Given the description of an element on the screen output the (x, y) to click on. 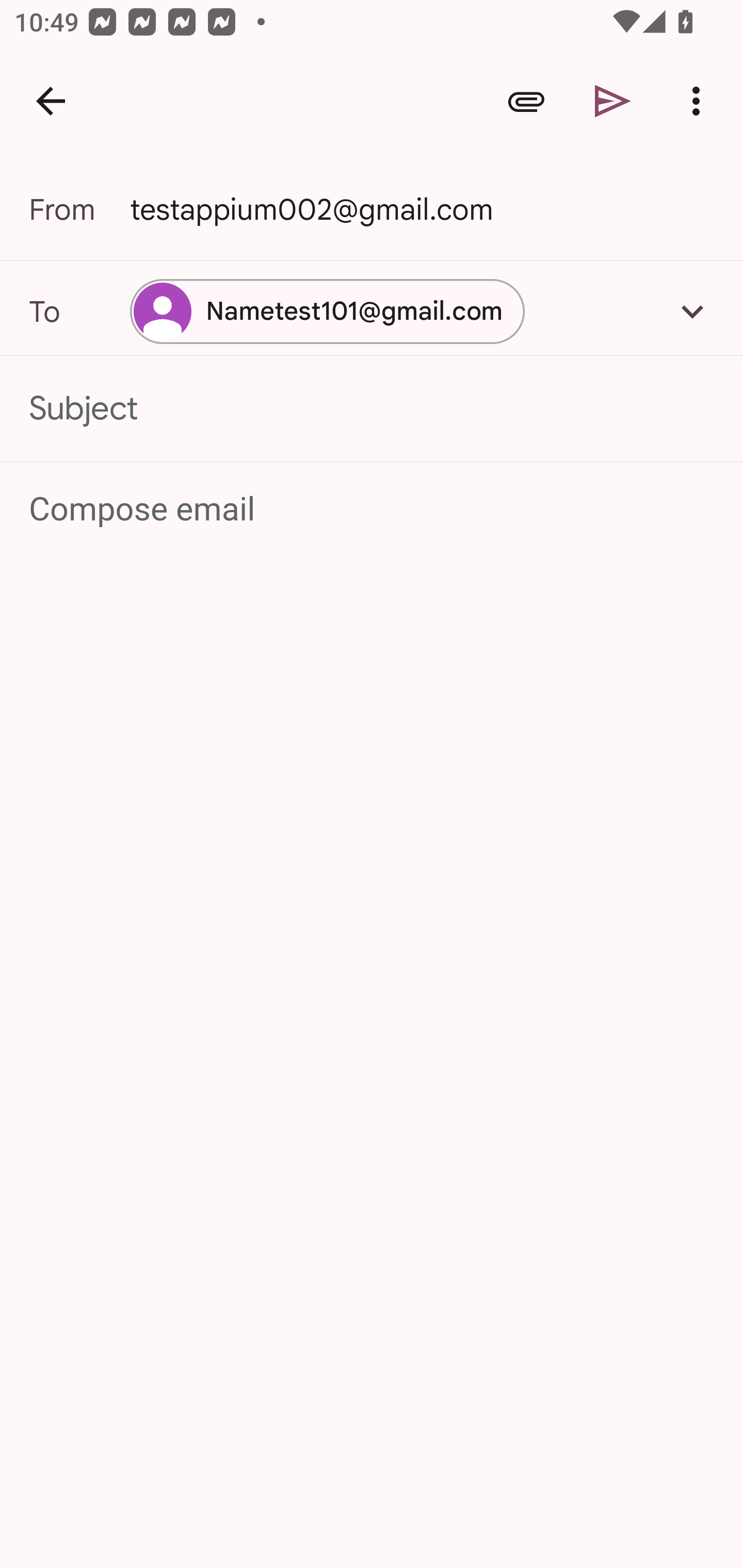
Navigate up (50, 101)
Attach file (525, 101)
Send (612, 101)
More options (699, 101)
From (79, 209)
Add Cc/Bcc (692, 311)
Subject (371, 407)
Compose email (372, 509)
